Given the description of an element on the screen output the (x, y) to click on. 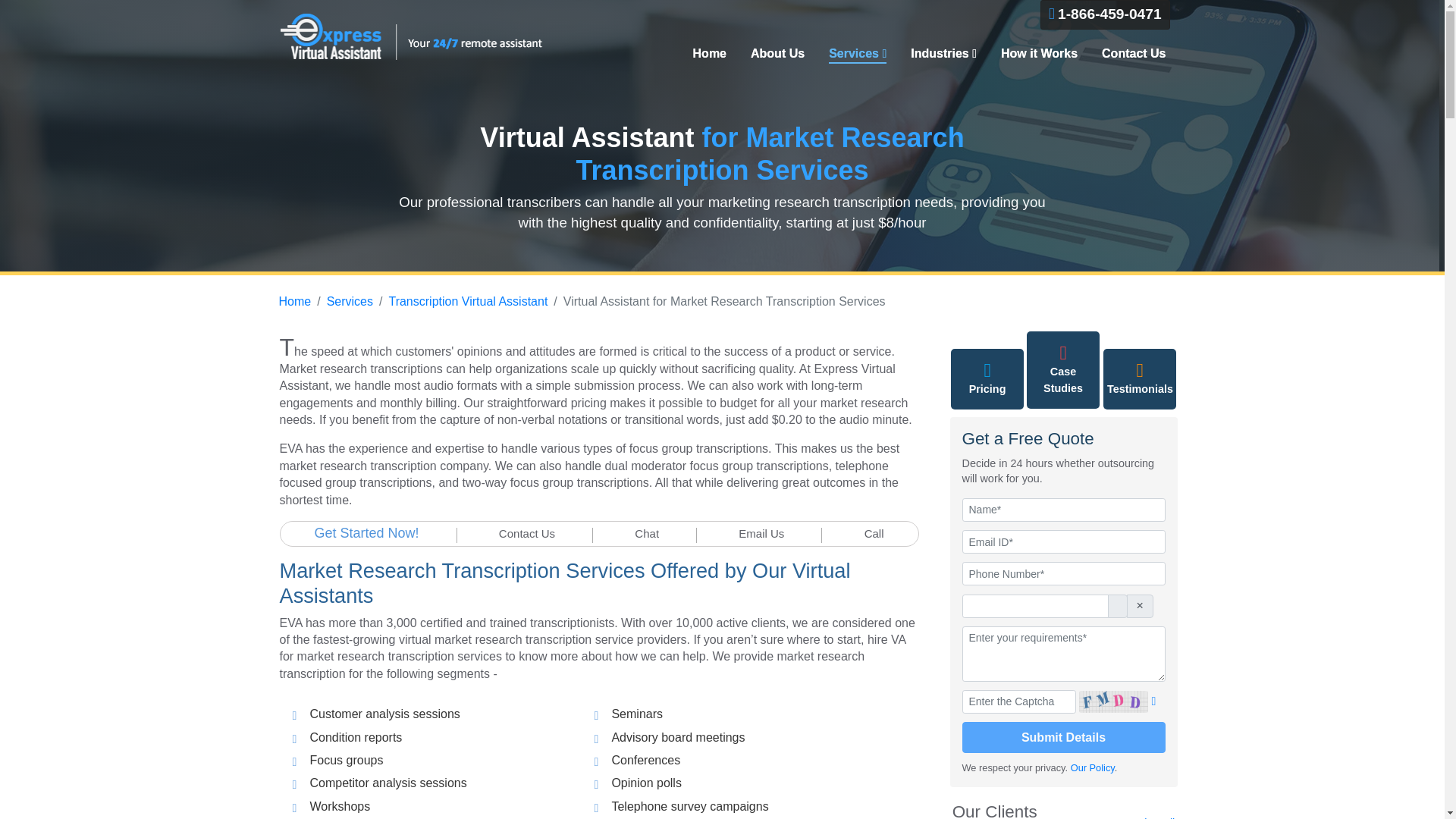
Services (857, 54)
Services (857, 54)
Home (295, 300)
Call (873, 533)
About Us (777, 53)
Transcription Virtual Assistant (467, 300)
How it Works (1038, 53)
Services (857, 54)
Home (709, 53)
Services (349, 300)
